Given the description of an element on the screen output the (x, y) to click on. 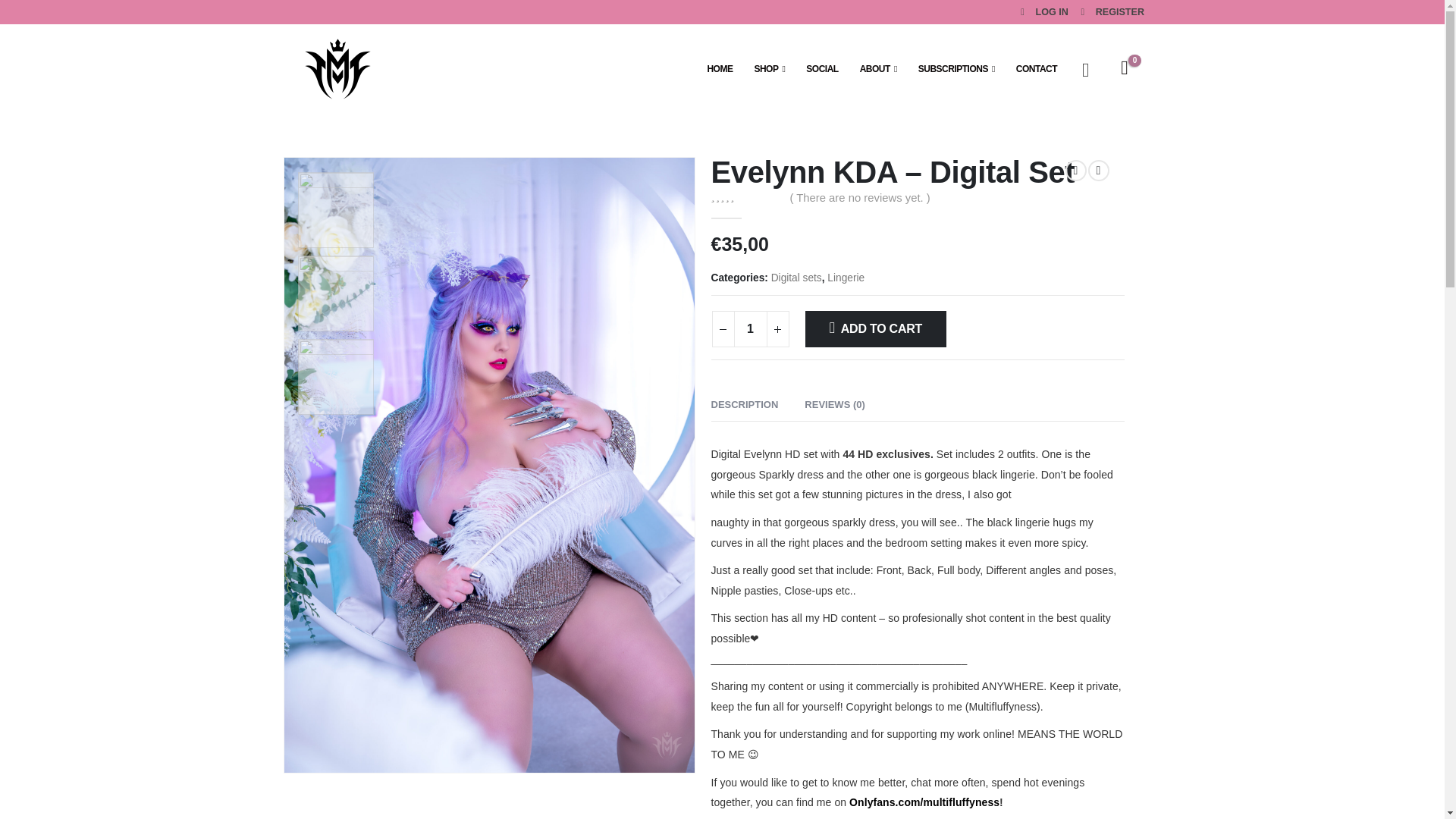
0 (744, 196)
SOCIAL (821, 68)
ABOUT (877, 68)
Multifluffyness -  (334, 68)
REGISTER (1107, 12)
HOME (719, 68)
1 (750, 329)
LOG IN (1041, 12)
DSC07833-3 (335, 376)
CONTACT (1036, 68)
